Given the description of an element on the screen output the (x, y) to click on. 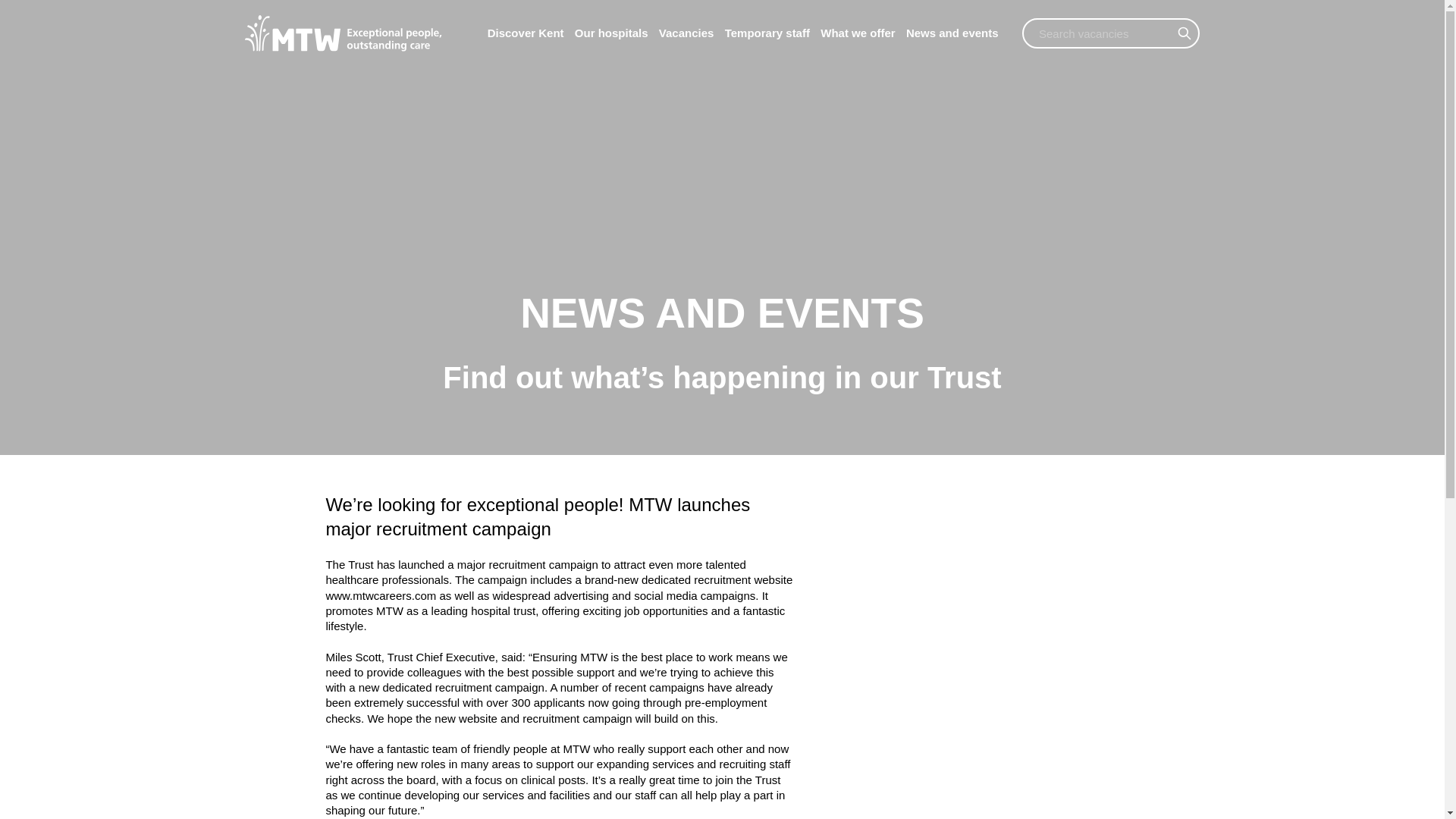
Our hospitals (611, 32)
Temporary staff (767, 32)
News and events (951, 32)
Vacancies (686, 32)
Discover Kent (525, 32)
What we offer (858, 32)
